Given the description of an element on the screen output the (x, y) to click on. 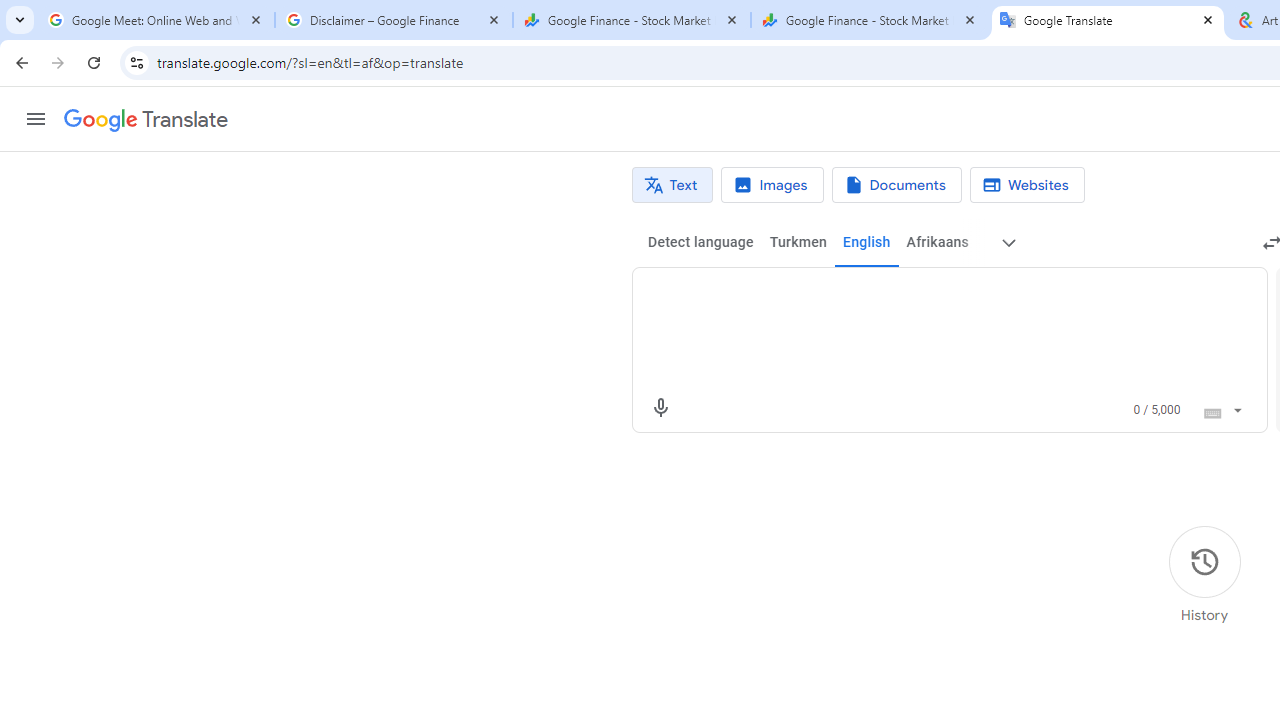
Afrikaans (937, 242)
Document translation (896, 185)
Text translation (672, 185)
Google Translate (145, 120)
Show the Input Tools menu (1236, 407)
0 of 5,000 characters used (1156, 410)
English (866, 242)
Translate by voice (660, 407)
Detect language (699, 242)
